Given the description of an element on the screen output the (x, y) to click on. 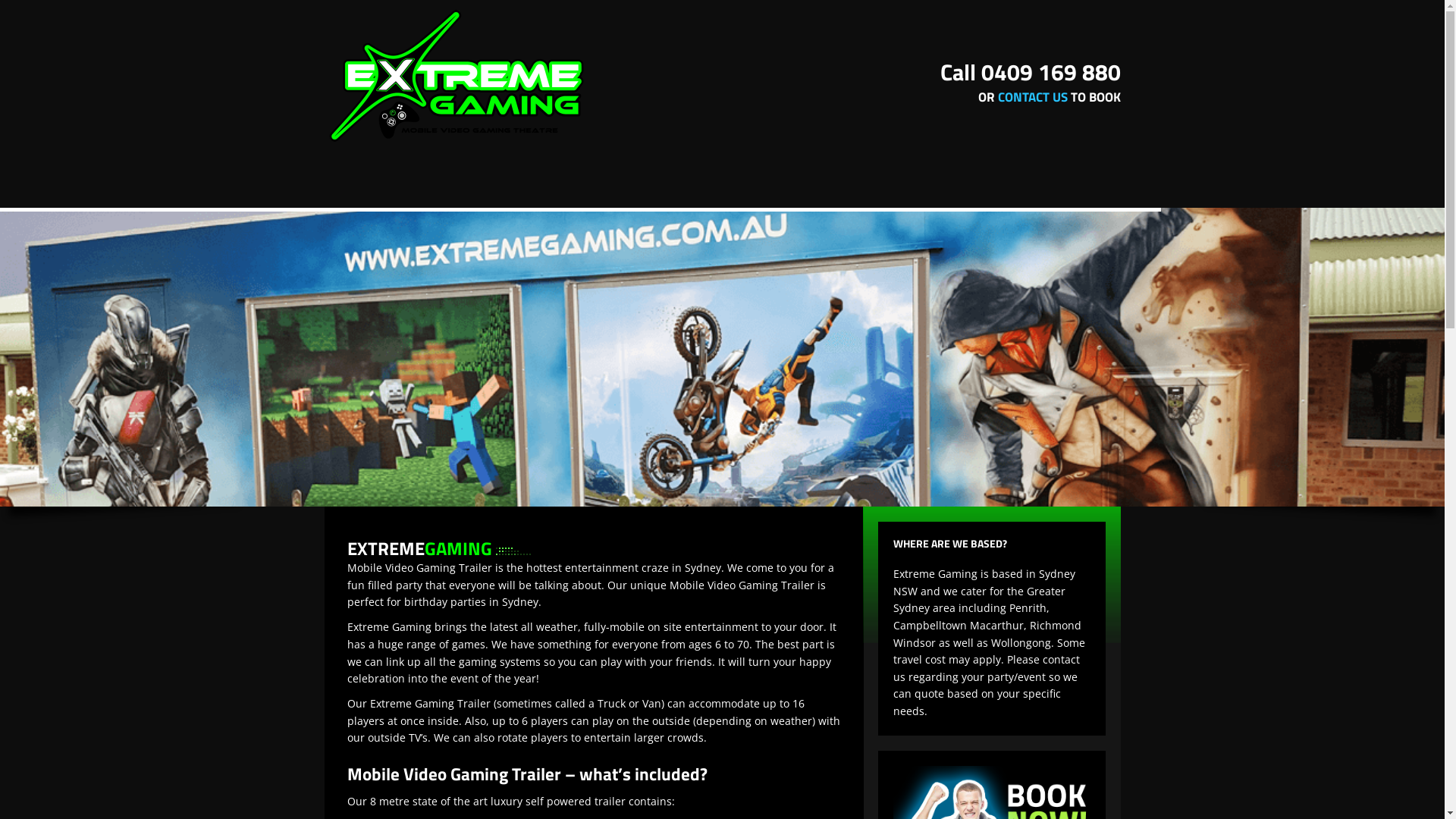
CONTACT US Element type: text (1032, 96)
0409 169 880 Element type: text (1050, 71)
Extreme Gaming Element type: hover (456, 76)
